Given the description of an element on the screen output the (x, y) to click on. 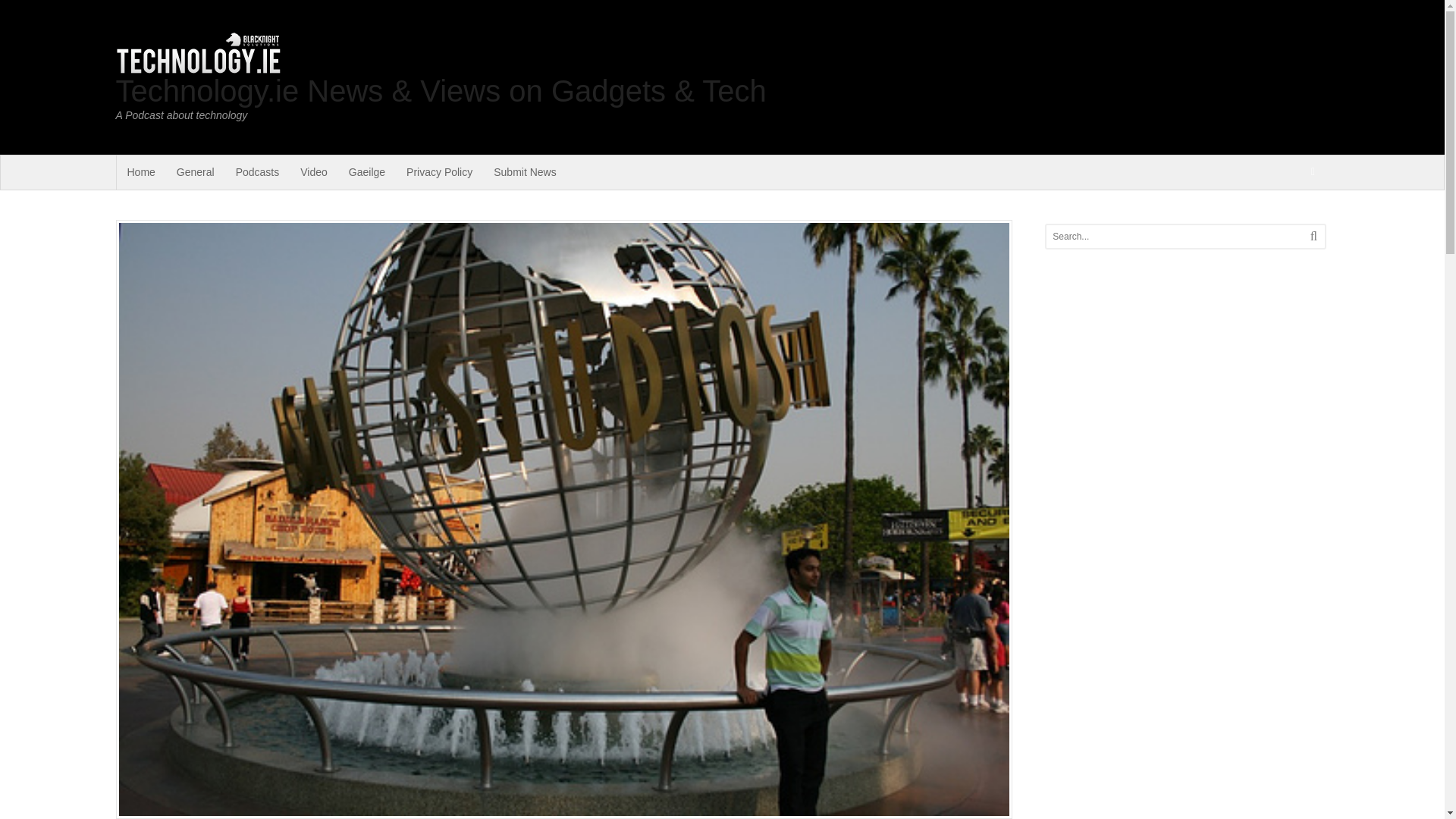
Search... (1170, 236)
Home (140, 172)
General (195, 172)
Video (313, 172)
Podcasts (257, 172)
A Podcast about technology (197, 67)
Gaeilge (366, 172)
Privacy Policy (439, 172)
Submit News (524, 172)
Technoloy.ie Home Page (140, 172)
